Given the description of an element on the screen output the (x, y) to click on. 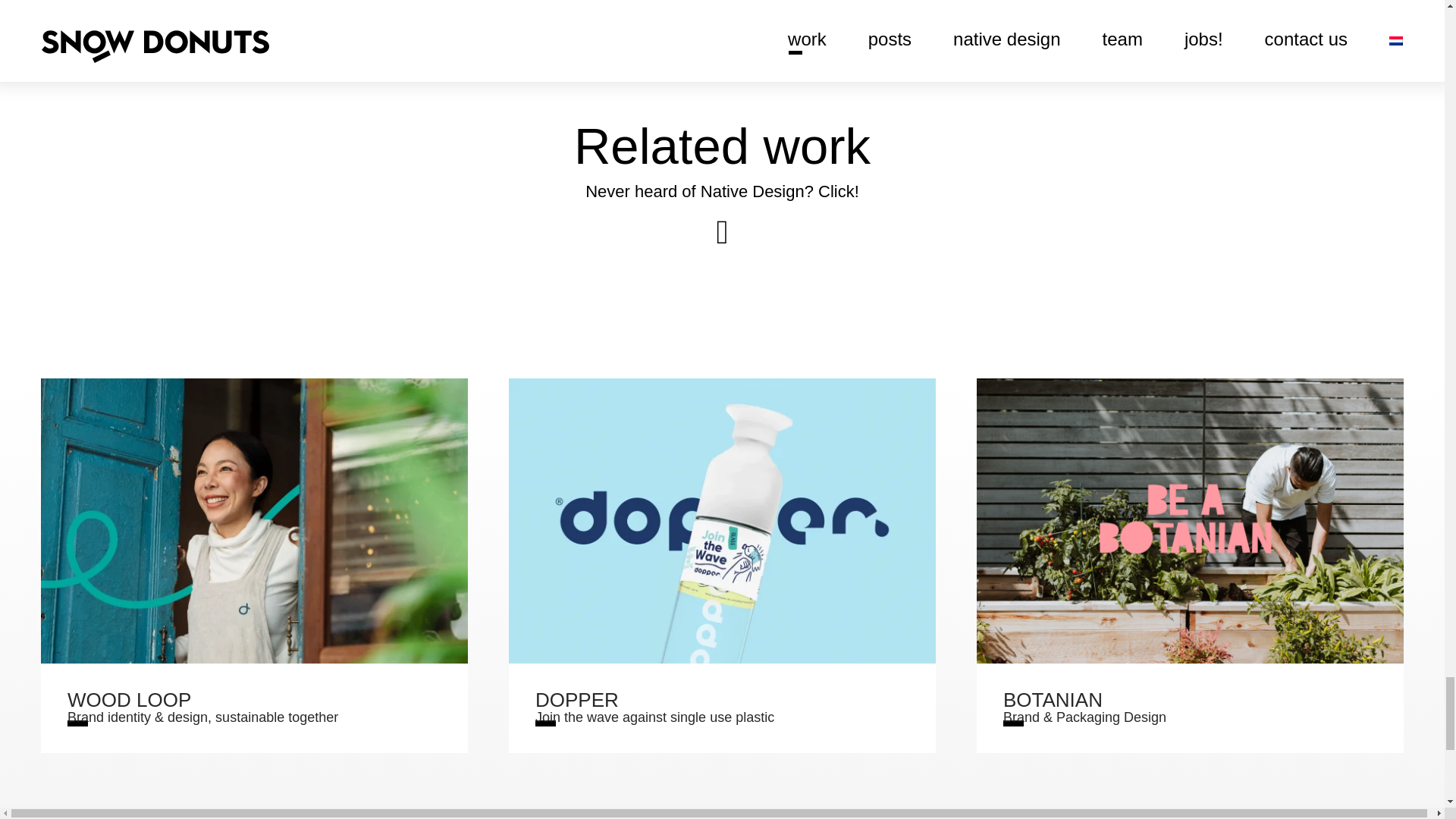
Never heard of Native Design? Click! (722, 190)
